Given the description of an element on the screen output the (x, y) to click on. 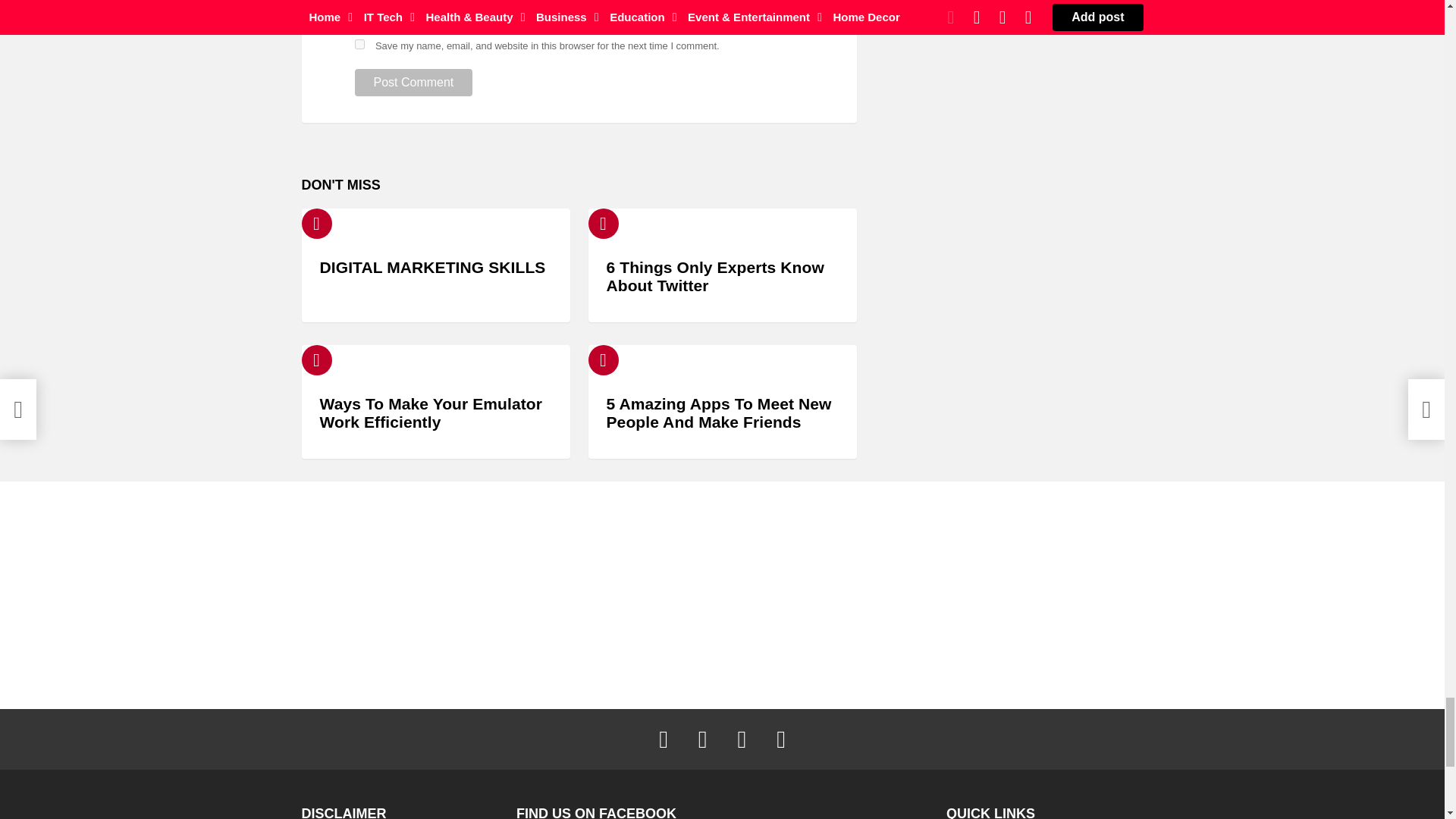
yes (360, 44)
Post Comment (414, 82)
